Given the description of an element on the screen output the (x, y) to click on. 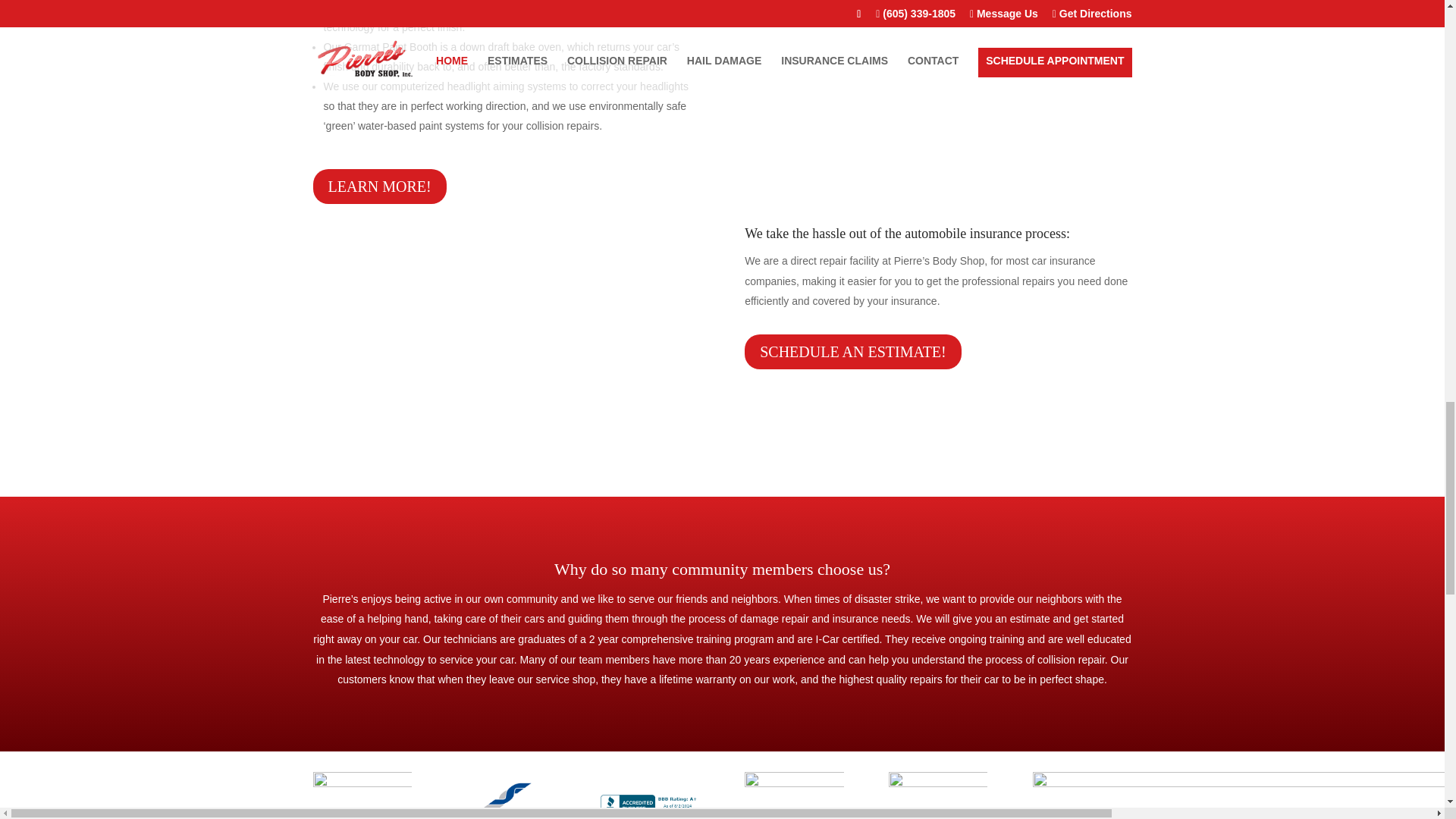
SCHEDULE AN ESTIMATE! (852, 351)
gold class logo (937, 795)
LEARN MORE! (379, 185)
